Given the description of an element on the screen output the (x, y) to click on. 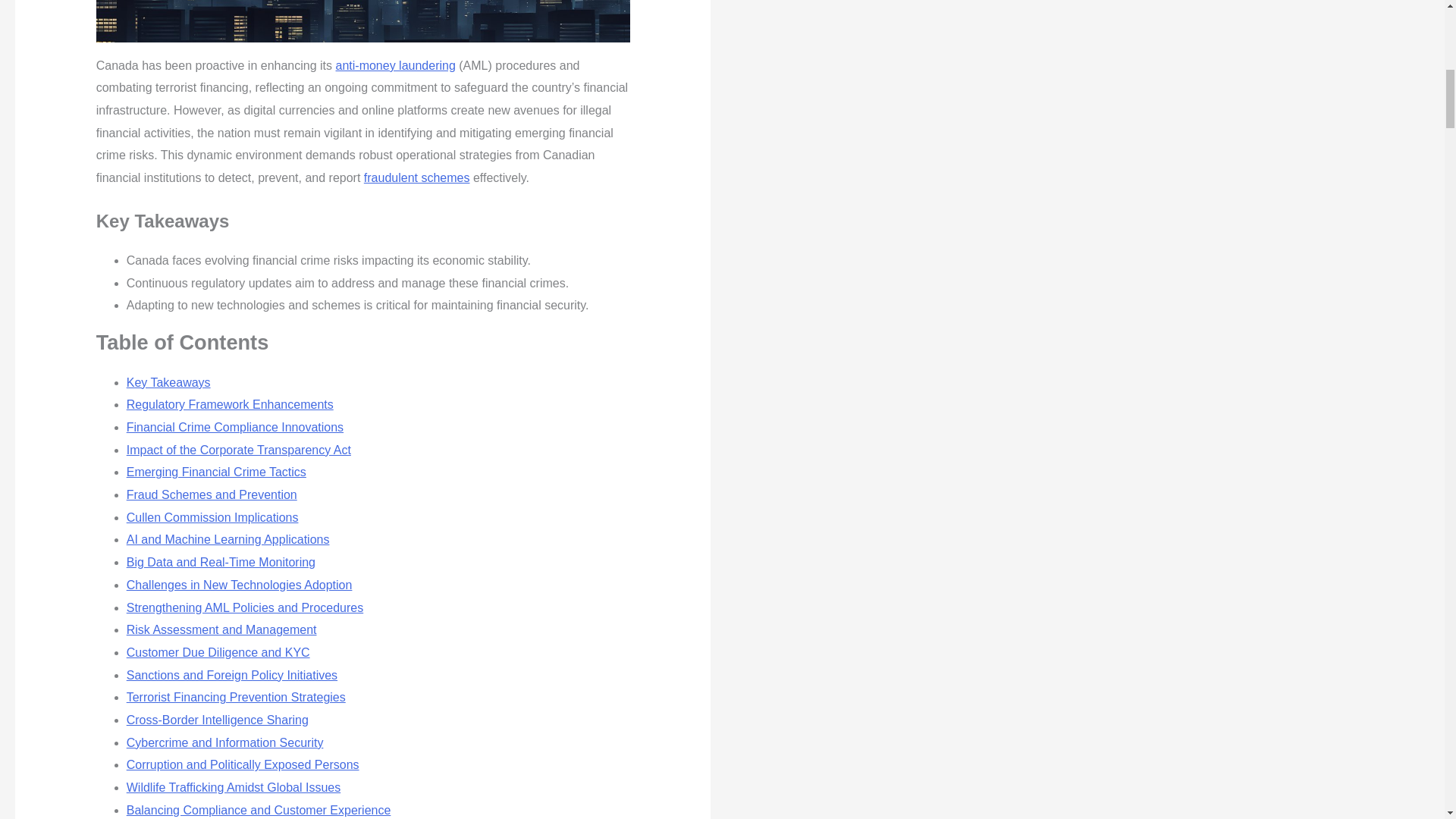
anti-money laundering (394, 65)
Impact of the Corporate Transparency Act (238, 449)
Regulatory Framework Enhancements (229, 404)
Emerging Financial Crime Tactics (215, 472)
Sanctions and Foreign Policy Initiatives (231, 675)
Fraud Schemes and Prevention (211, 494)
Terrorist Financing Prevention Strategies (236, 697)
AI and Machine Learning Applications (228, 539)
Key Takeaways (168, 382)
Big Data and Real-Time Monitoring (220, 562)
Financial Crime Compliance Innovations (234, 427)
Cullen Commission Implications (212, 517)
Customer Due Diligence and KYC (218, 652)
Challenges in New Technologies Adoption (239, 584)
Cross-Border Intelligence Sharing (217, 719)
